Given the description of an element on the screen output the (x, y) to click on. 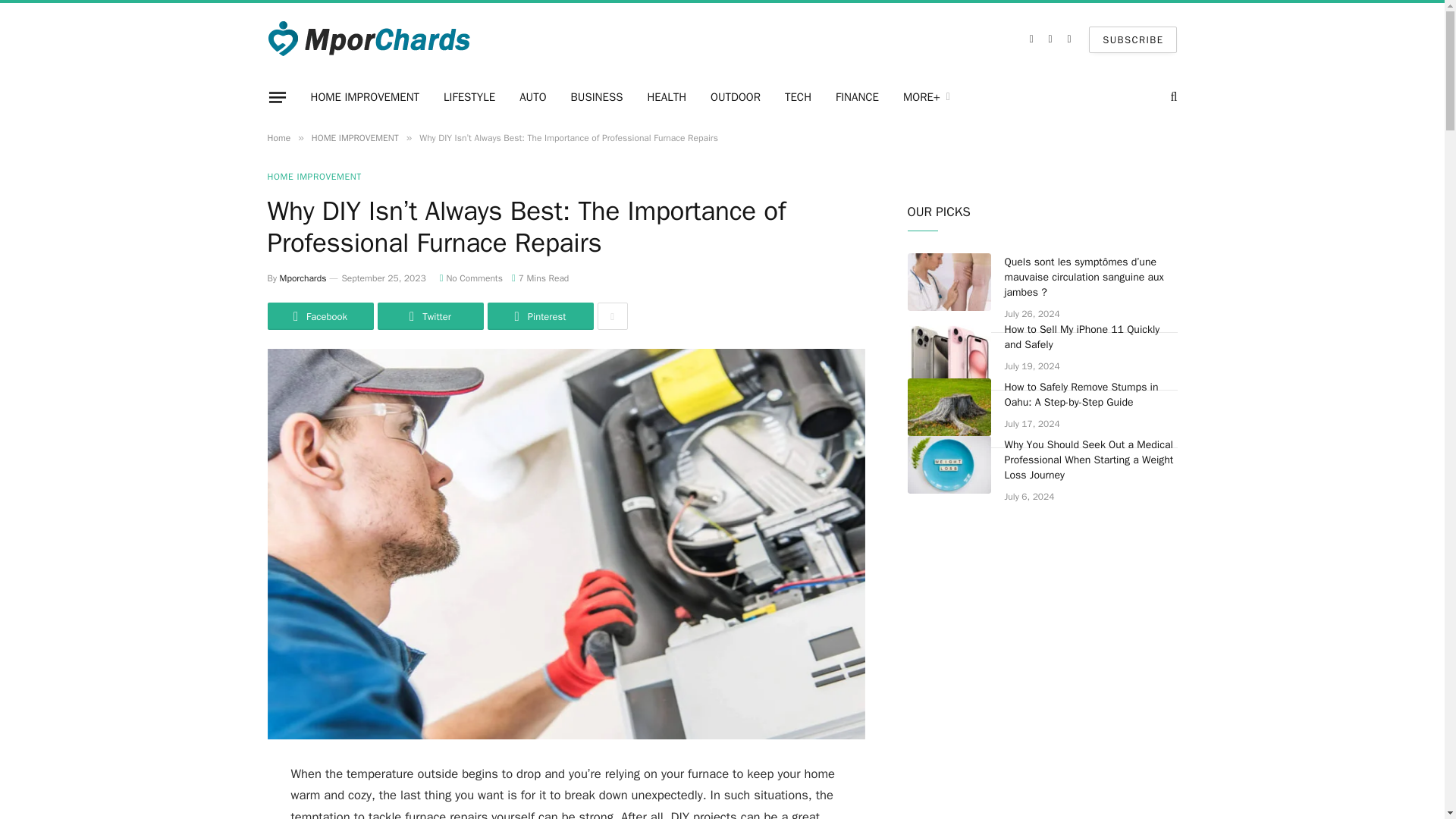
MporChards (369, 39)
HOME IMPROVEMENT (365, 96)
Share on Pinterest (539, 316)
BUSINESS (596, 96)
TECH (798, 96)
LIFESTYLE (468, 96)
SUBSCRIBE (1132, 38)
Posts by Mporchards (302, 277)
Share on Facebook (319, 316)
Share on Twitter (430, 316)
OUTDOOR (735, 96)
AUTO (531, 96)
HEALTH (666, 96)
FINANCE (857, 96)
Show More Social Sharing (611, 316)
